Given the description of an element on the screen output the (x, y) to click on. 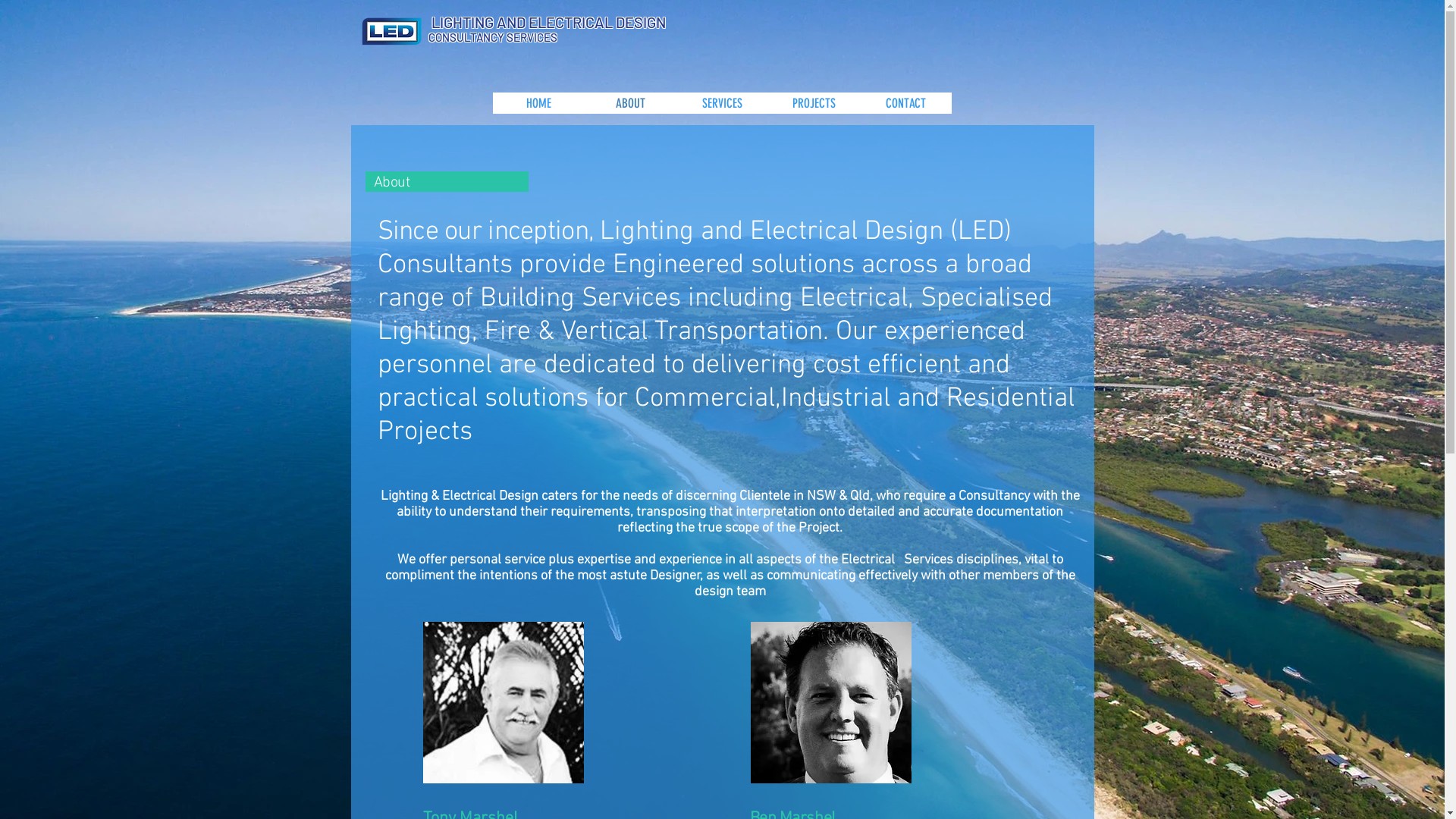
tm1.JPG Element type: hover (503, 702)
DESIGN Element type: text (640, 21)
PROJECTS Element type: text (813, 102)
LIGHTING AND ELECTRICAL Element type: text (522, 21)
SERVICES Element type: text (722, 102)
CONTACT Element type: text (905, 102)
HOME Element type: text (538, 102)
CONSULTANCY SERVICES Element type: text (492, 36)
ME2.JPG Element type: hover (830, 702)
ABOUT Element type: text (629, 102)
